Given the description of an element on the screen output the (x, y) to click on. 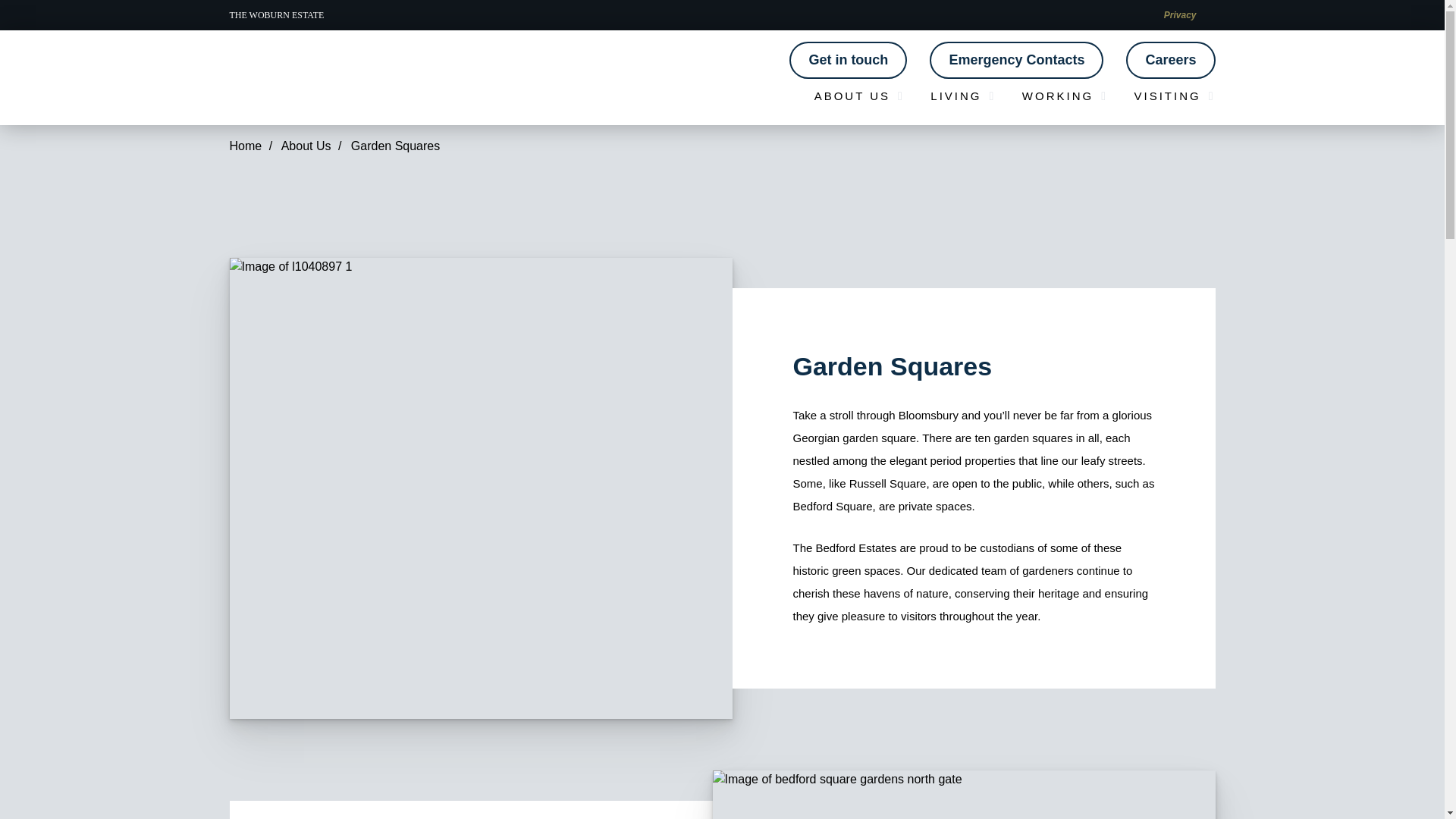
Get in touch (848, 59)
Privacy (1179, 14)
Emergency Contacts (1016, 59)
The Bedford Estates (302, 78)
LIVING (962, 96)
Emergency Contacts (1016, 59)
ABOUT US (858, 96)
WORKING (1065, 96)
Careers (1169, 59)
THE WOBURN ESTATE (275, 14)
